Given the description of an element on the screen output the (x, y) to click on. 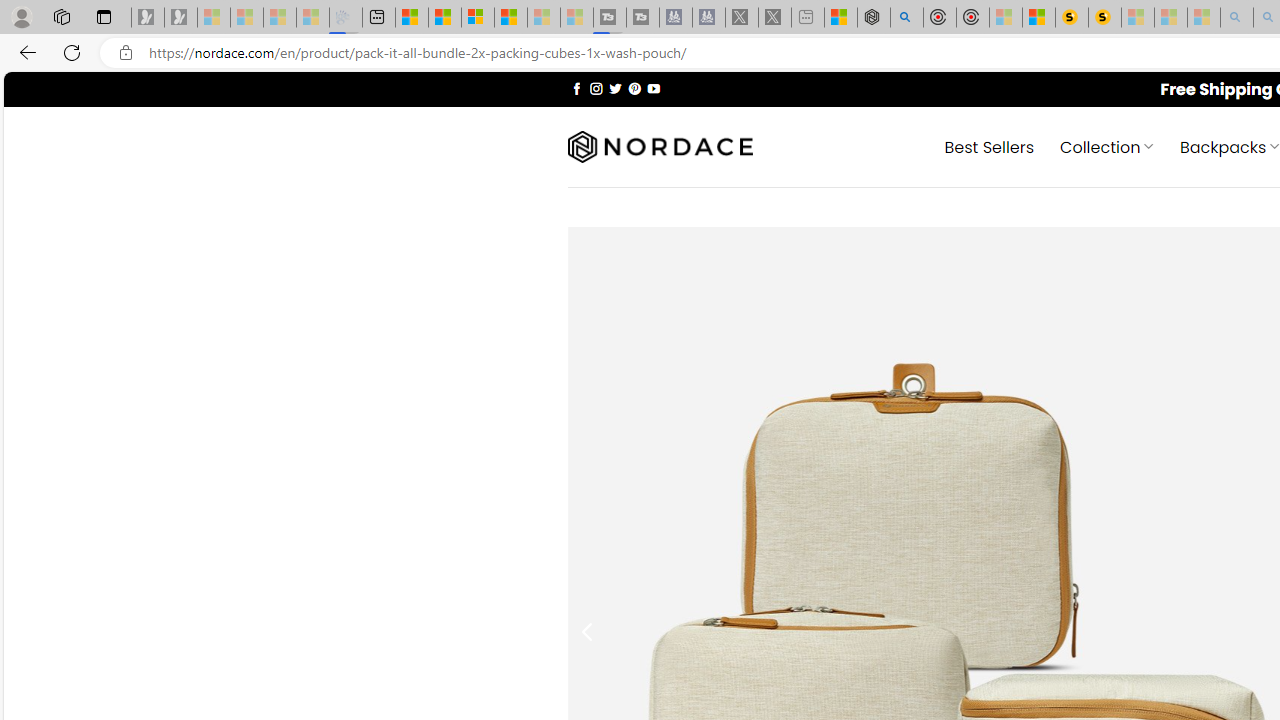
Follow on Facebook (576, 88)
Streaming Coverage | T3 - Sleeping (609, 17)
 Best Sellers (989, 146)
